Given the description of an element on the screen output the (x, y) to click on. 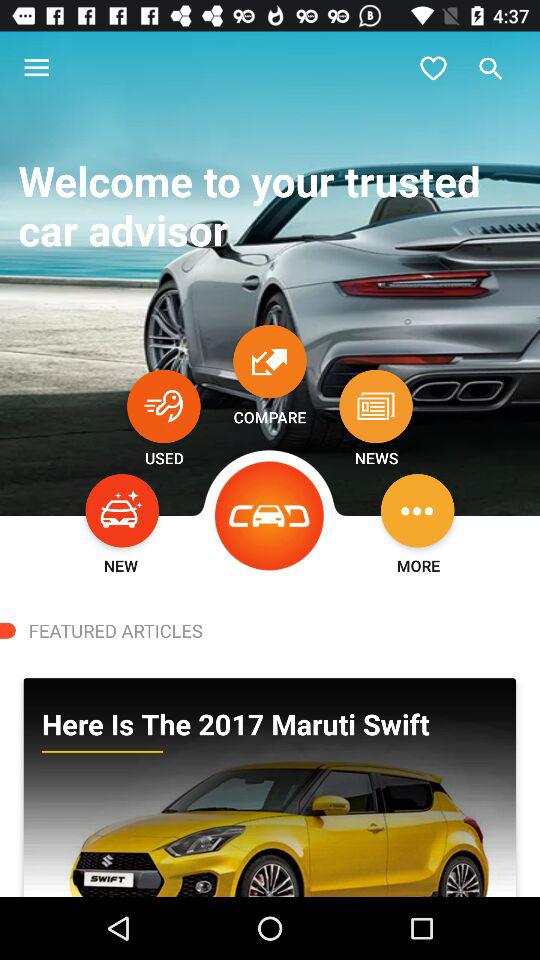
tap icon below news item (417, 510)
